Given the description of an element on the screen output the (x, y) to click on. 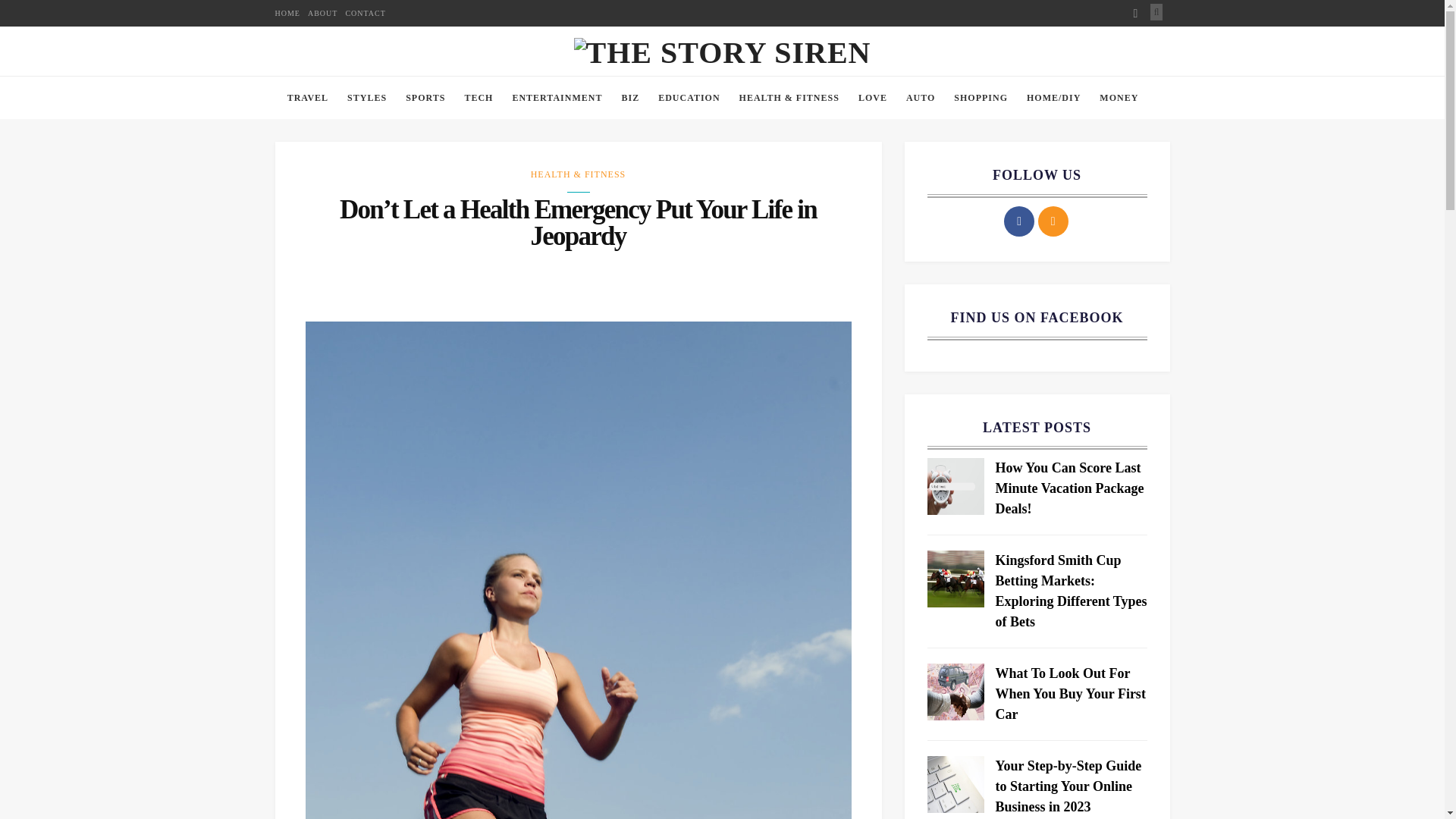
ABOUT (322, 13)
HOME (287, 13)
TRAVEL (307, 200)
CONTACT (365, 13)
